Given the description of an element on the screen output the (x, y) to click on. 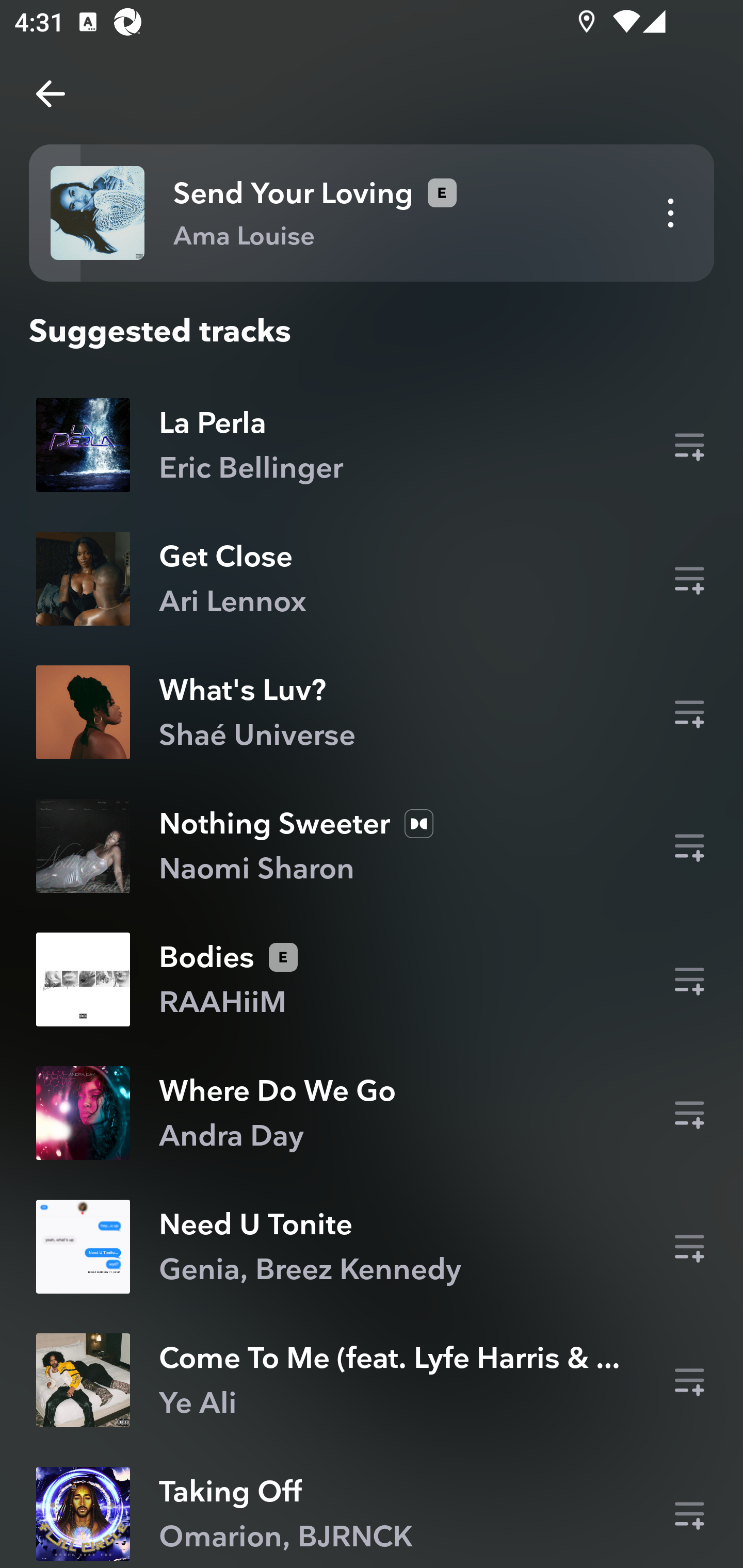
Send Your Loving Ama Louise (371, 213)
La Perla Eric Bellinger (371, 445)
Get Close Ari Lennox (371, 578)
What's Luv? Shaé Universe (371, 711)
Nothing Sweeter Naomi Sharon (371, 845)
Bodies RAAHiiM (371, 979)
Where Do We Go Andra Day (371, 1113)
Need U Tonite Genia, Breez Kennedy (371, 1246)
Taking Off Omarion, BJRNCK (371, 1512)
